Given the description of an element on the screen output the (x, y) to click on. 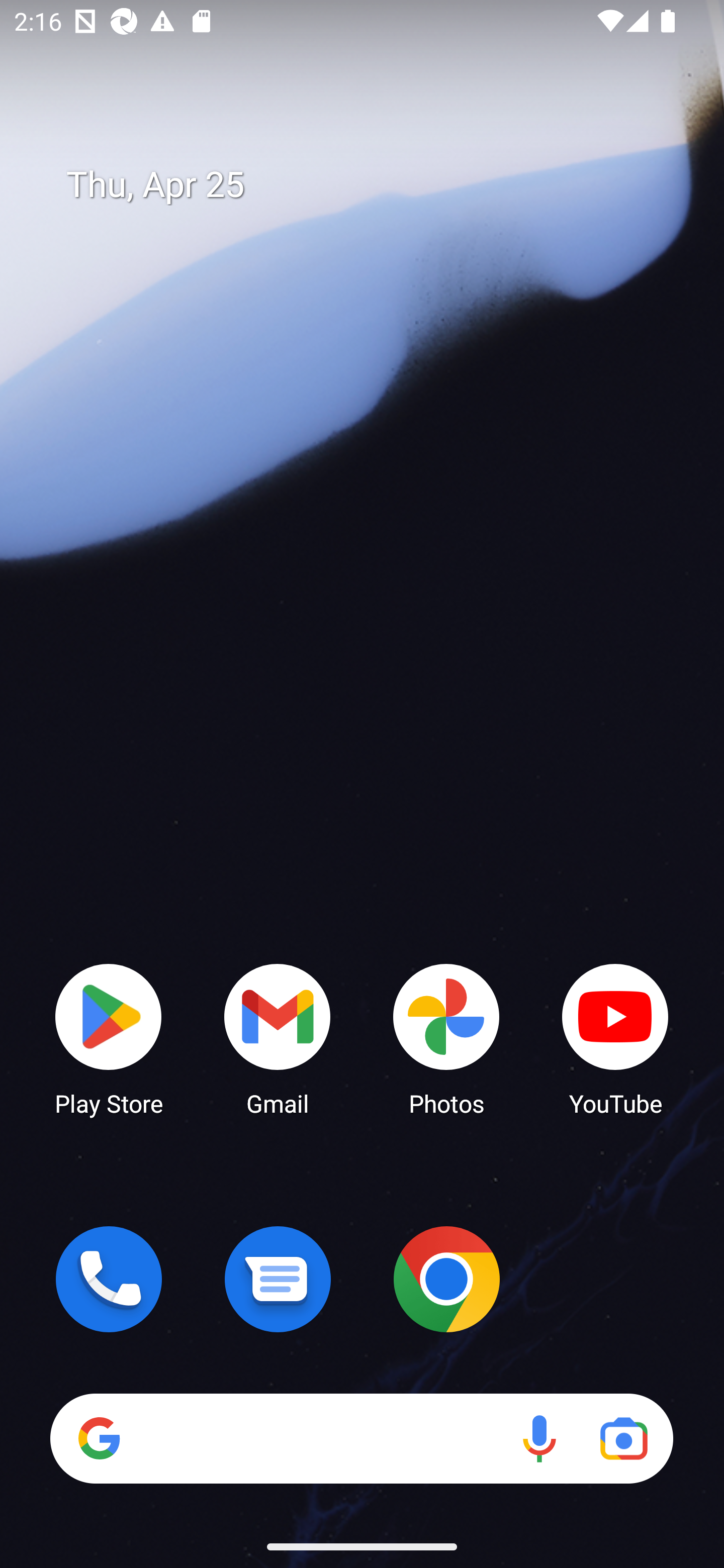
Thu, Apr 25 (375, 184)
Play Store (108, 1038)
Gmail (277, 1038)
Photos (445, 1038)
YouTube (615, 1038)
Phone (108, 1279)
Messages (277, 1279)
Chrome (446, 1279)
Search Voice search Google Lens (361, 1438)
Voice search (539, 1438)
Google Lens (623, 1438)
